Given the description of an element on the screen output the (x, y) to click on. 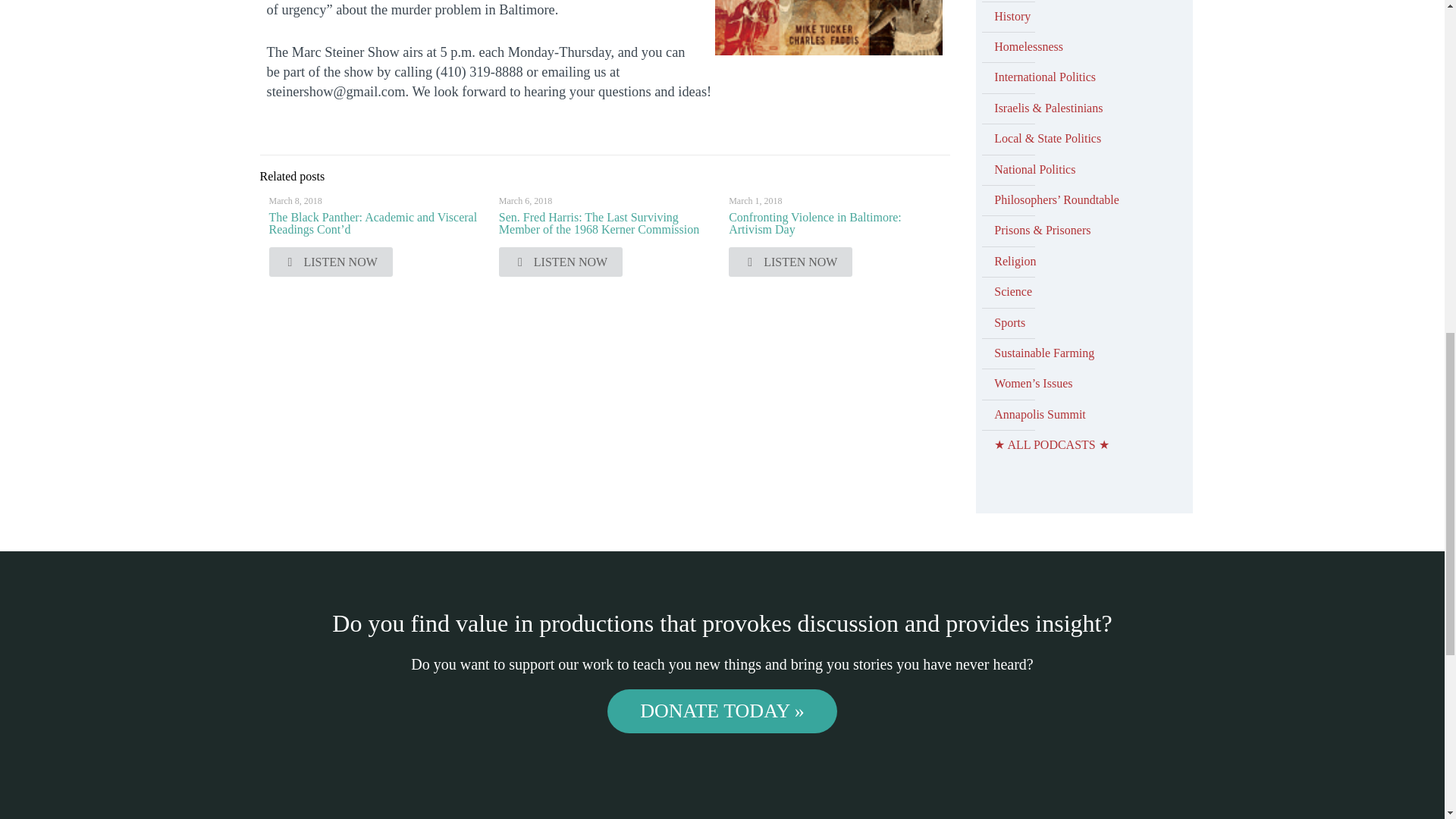
sample-title (828, 28)
